Given the description of an element on the screen output the (x, y) to click on. 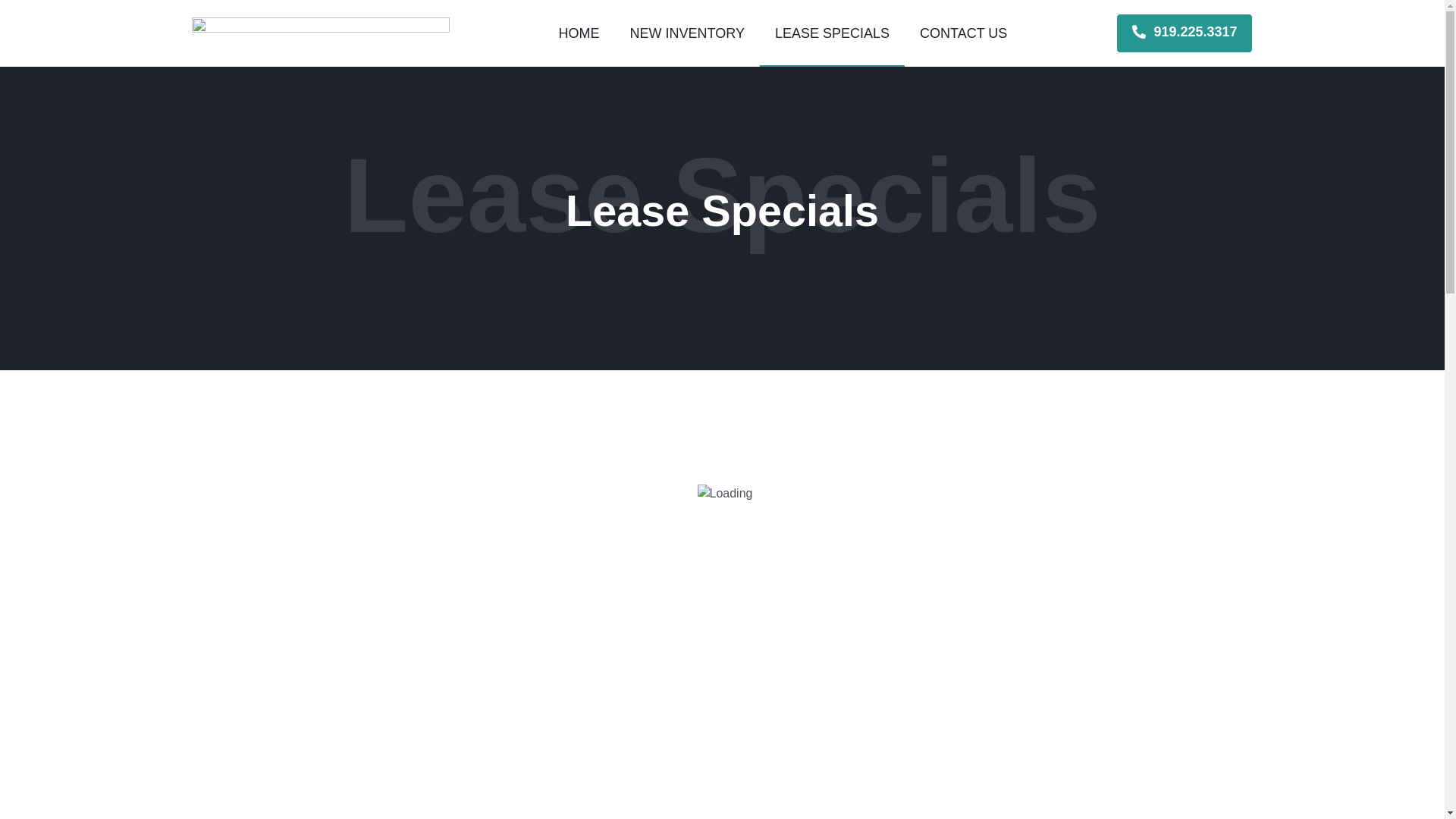
919.225.3317 (1184, 33)
Loading (724, 493)
LEASE SPECIALS (832, 33)
NEW INVENTORY (687, 33)
CONTACT US (963, 33)
HOME (578, 33)
